Given the description of an element on the screen output the (x, y) to click on. 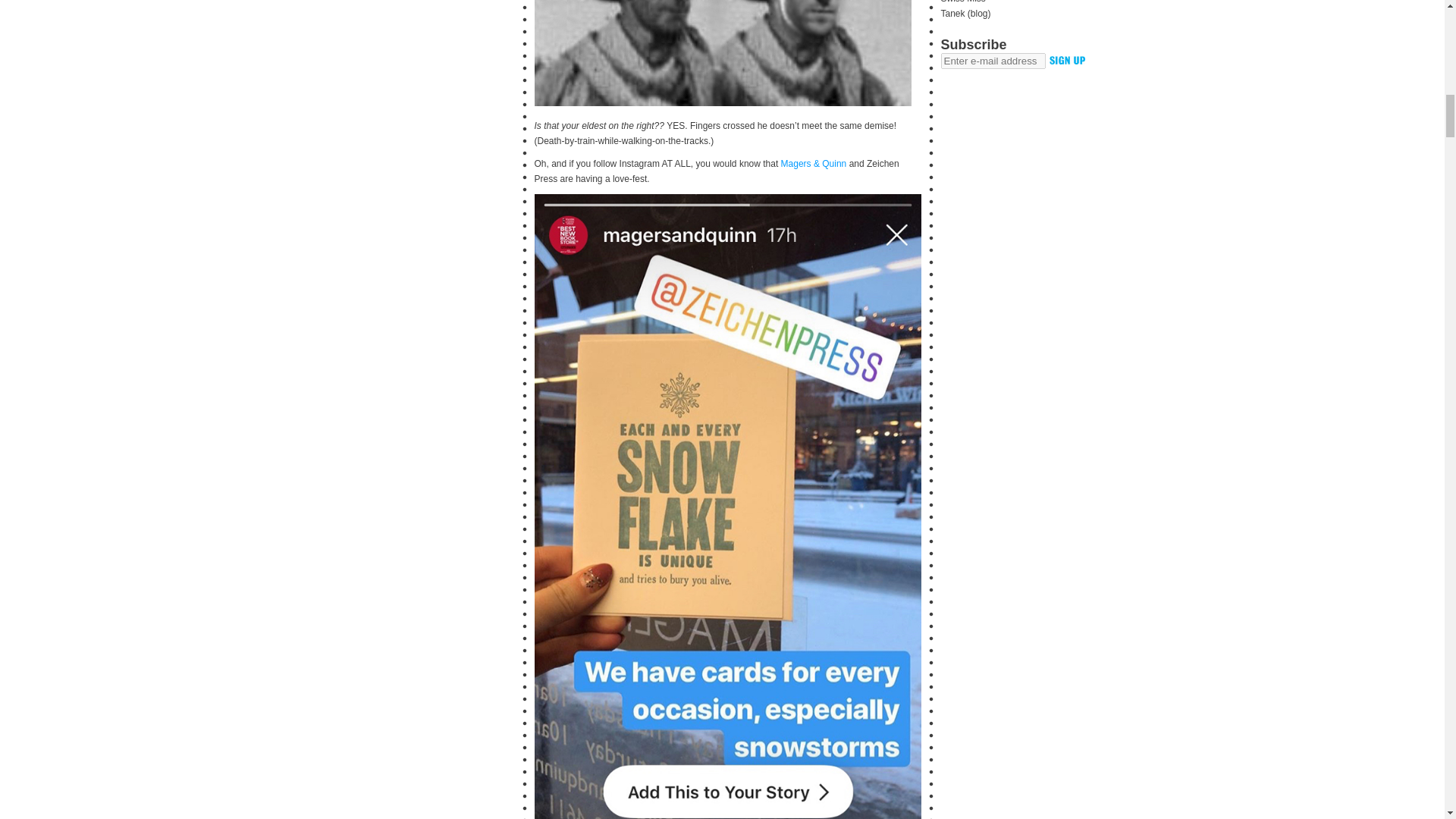
Sign up (1066, 60)
